Given the description of an element on the screen output the (x, y) to click on. 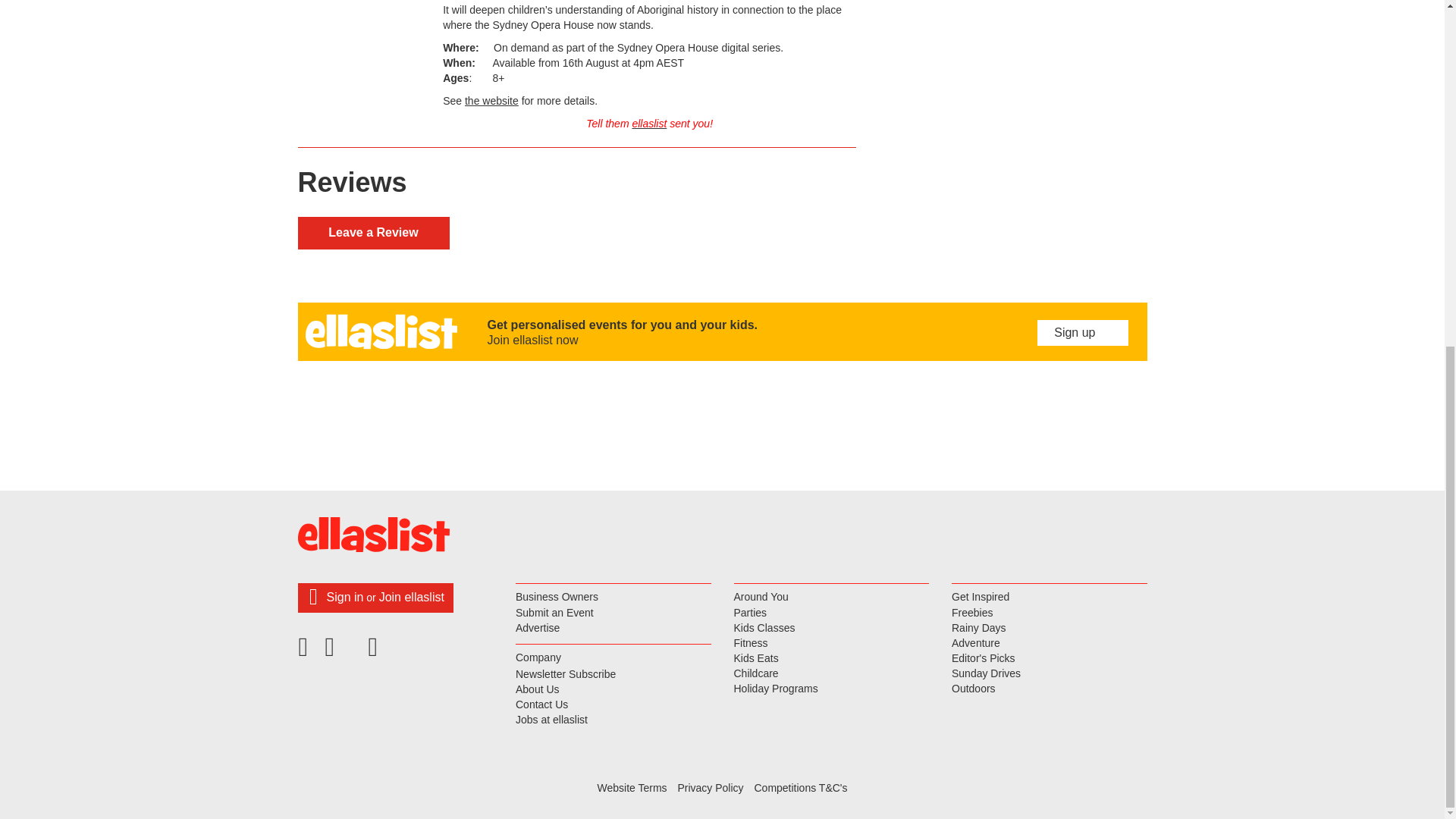
ellaslist (648, 123)
Leave a Review (372, 233)
Sign in (344, 596)
Join ellaslist (411, 596)
Leave a Review (372, 233)
Instagram (375, 652)
Jobs at ellaslist (613, 720)
Facebook (306, 652)
Contact Us (613, 704)
Fitness (831, 643)
Kids Eats (831, 658)
Advertise (613, 628)
About Us (613, 689)
Pinterest (341, 652)
